Given the description of an element on the screen output the (x, y) to click on. 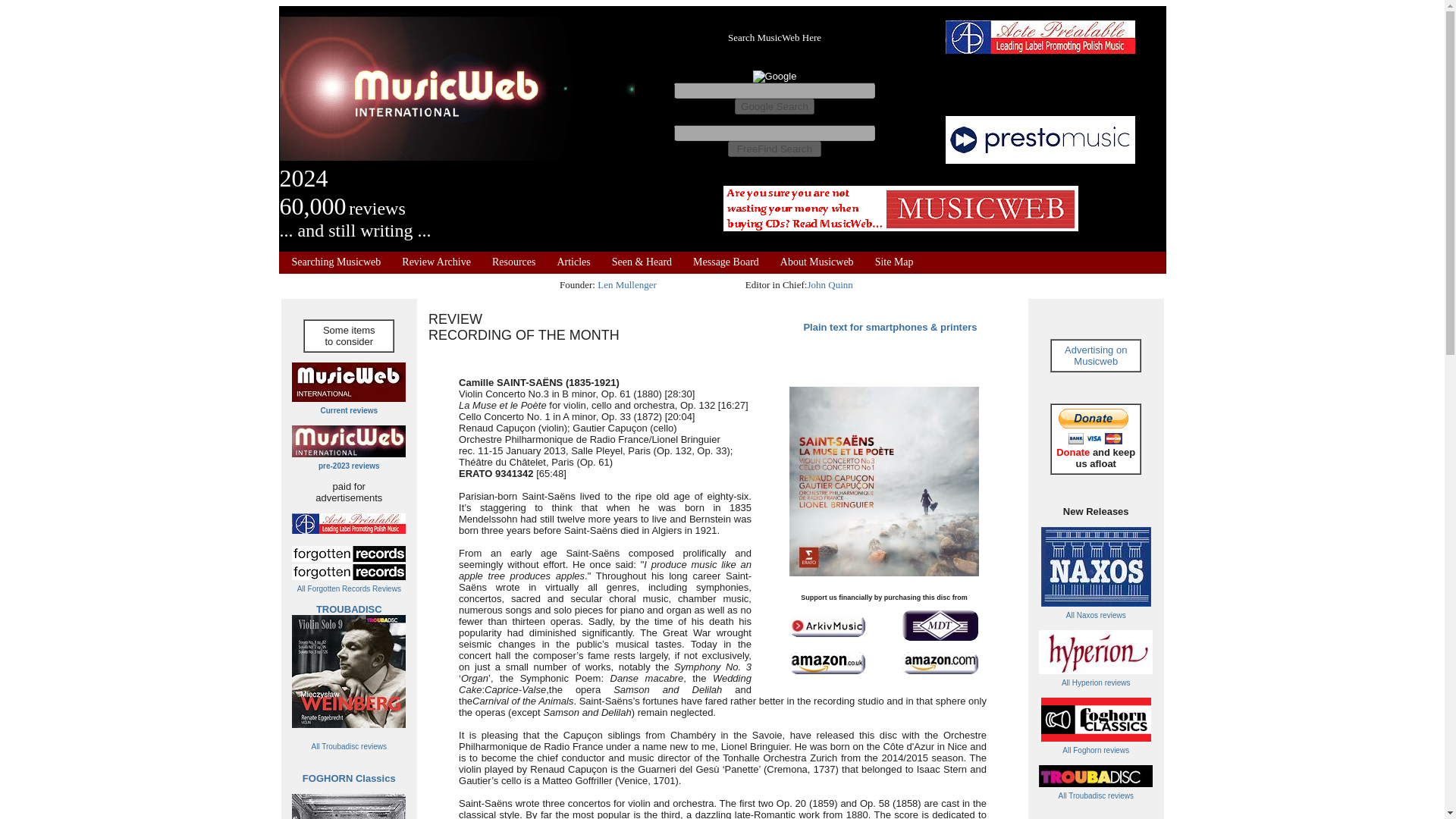
PayPal - The safer, easier way to pay online. (1094, 426)
Google Search (774, 106)
Review Archive (435, 262)
Google Search (774, 106)
Articles (572, 262)
Advertisement (900, 207)
Resources (513, 262)
 FreeFind Search  (774, 148)
Searching Musicweb (335, 262)
